Given the description of an element on the screen output the (x, y) to click on. 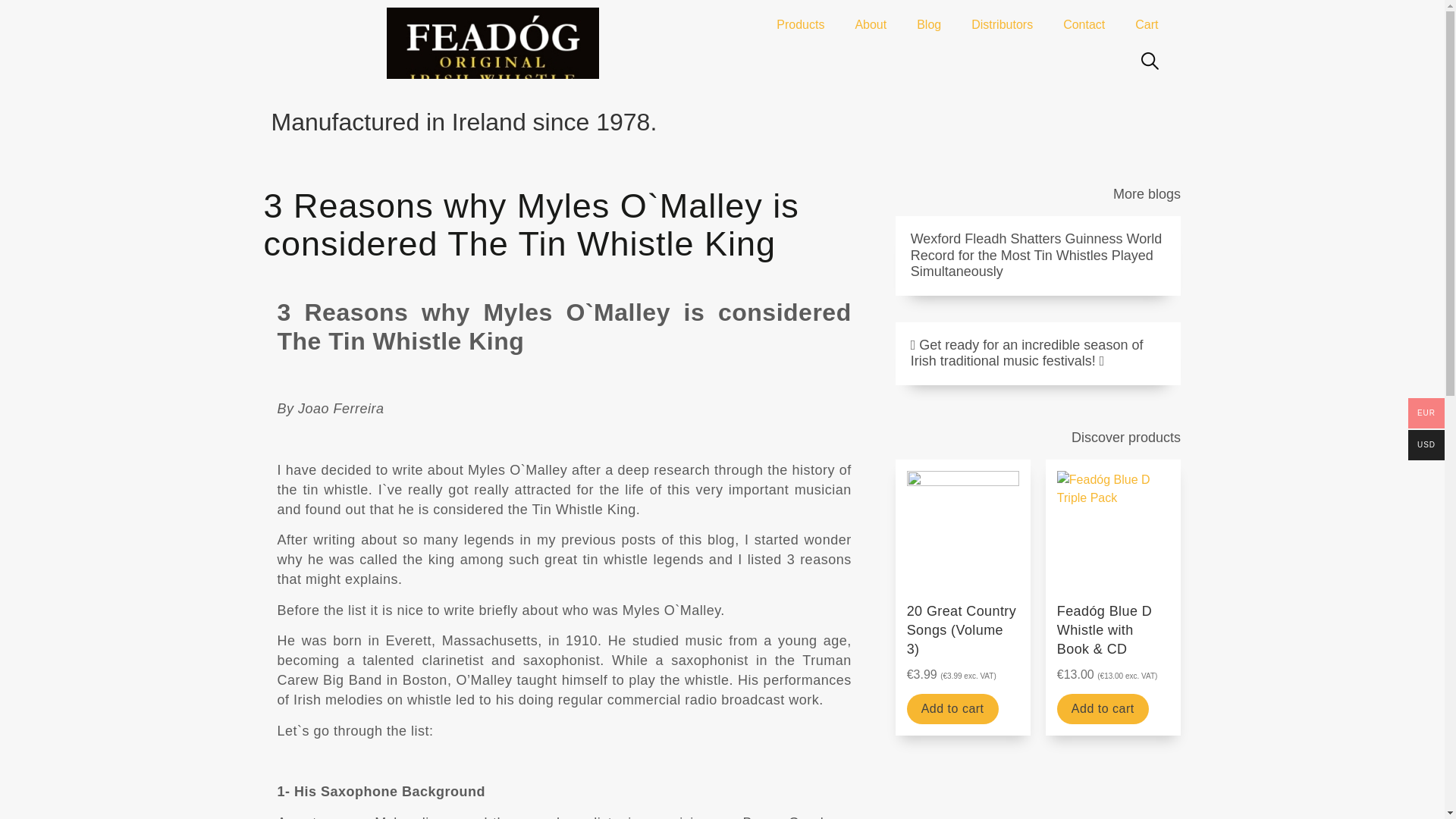
Cart (1146, 24)
Distributors (1002, 24)
Contact (1083, 24)
Blog (928, 24)
About (870, 24)
Products (800, 24)
